Given the description of an element on the screen output the (x, y) to click on. 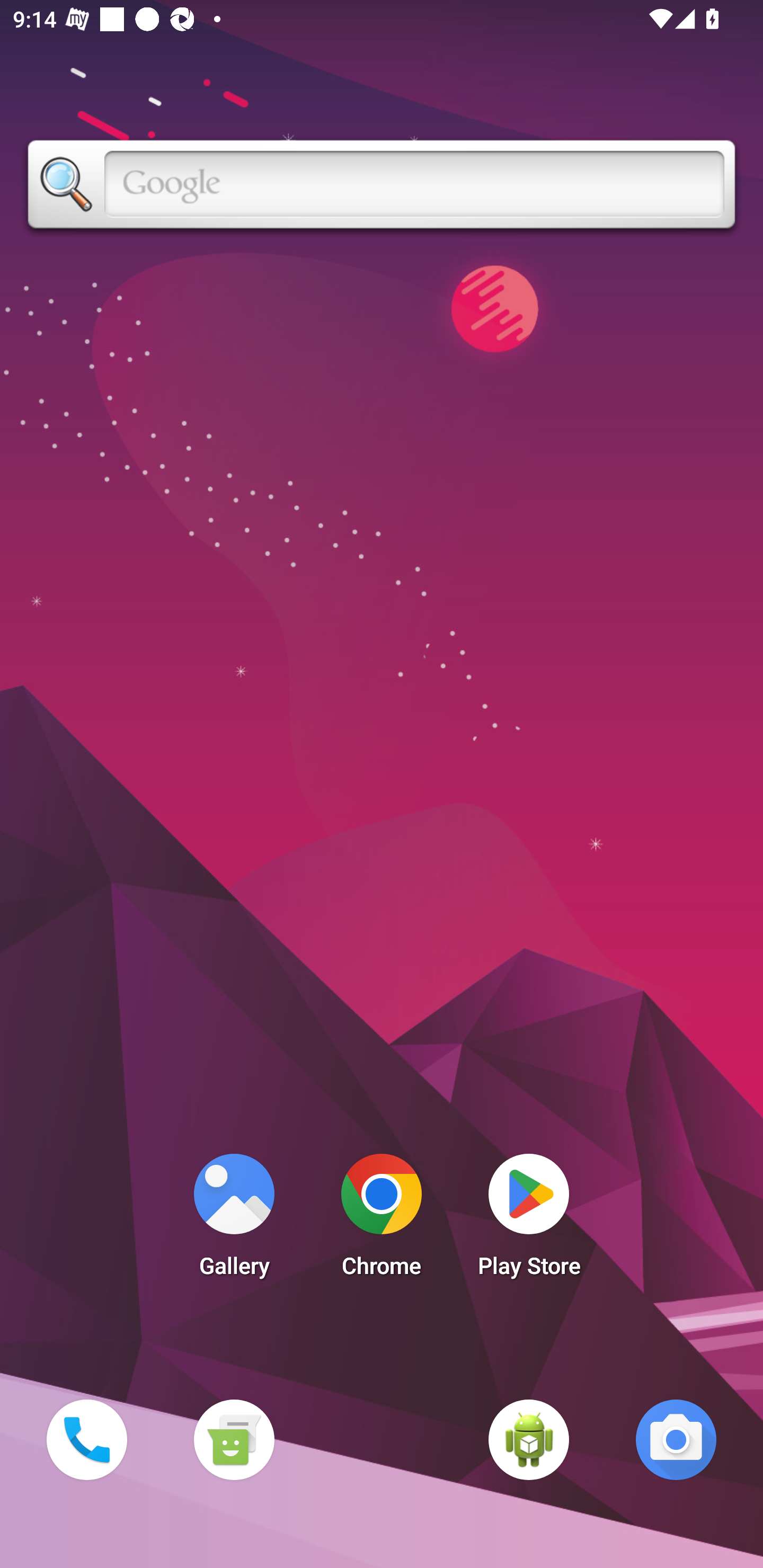
Gallery (233, 1220)
Chrome (381, 1220)
Play Store (528, 1220)
Phone (86, 1439)
Messaging (233, 1439)
WebView Browser Tester (528, 1439)
Camera (676, 1439)
